Given the description of an element on the screen output the (x, y) to click on. 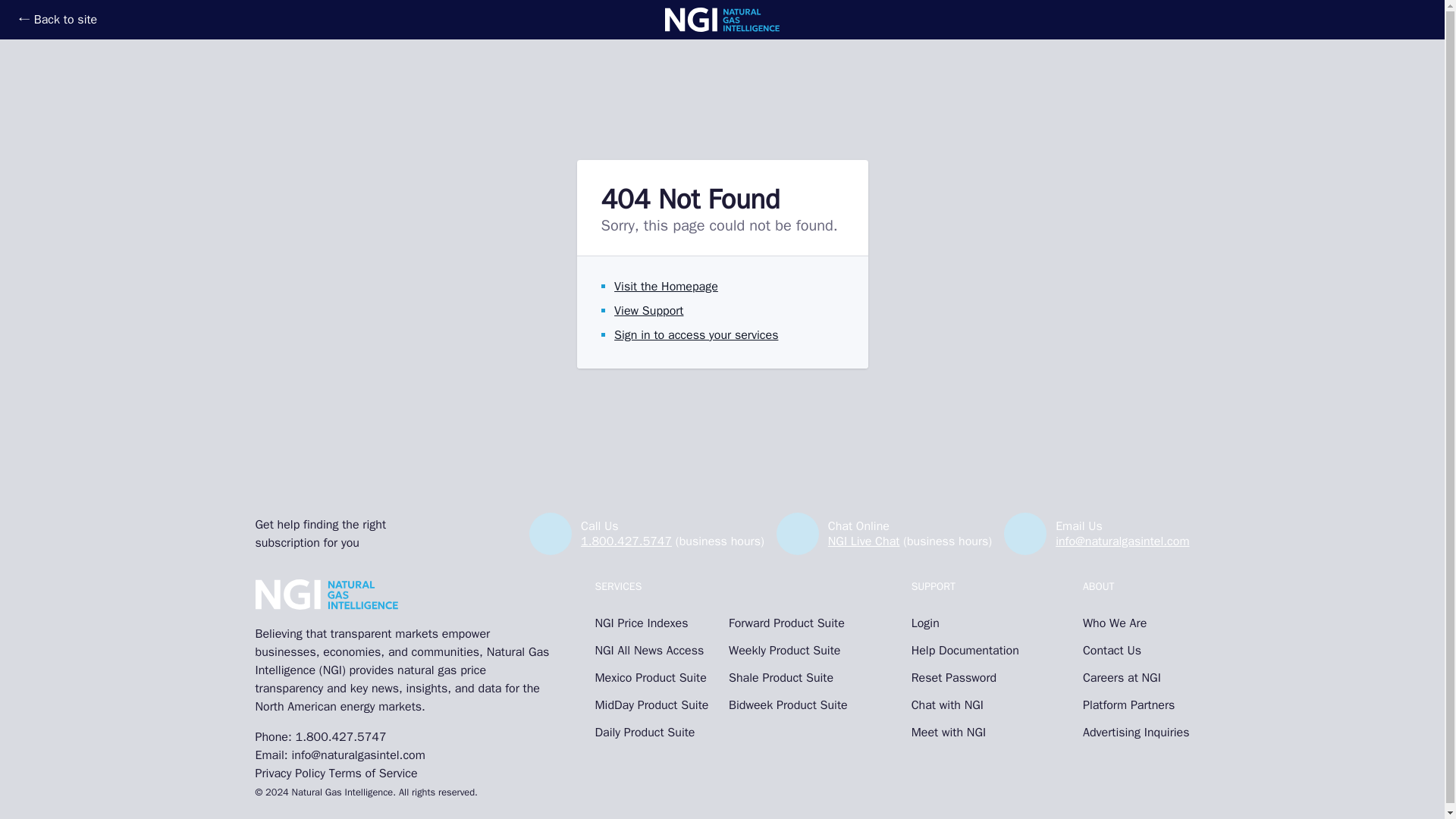
Shale Product Suite (788, 678)
Privacy Policy (289, 773)
NGI All News Access (653, 650)
Careers at NGI (1136, 678)
Daily Product Suite (653, 732)
Mexico Product Suite (653, 678)
Visit the Homepage (665, 286)
Login (965, 623)
Reset Password (965, 678)
MidDay Product Suite (653, 705)
